Given the description of an element on the screen output the (x, y) to click on. 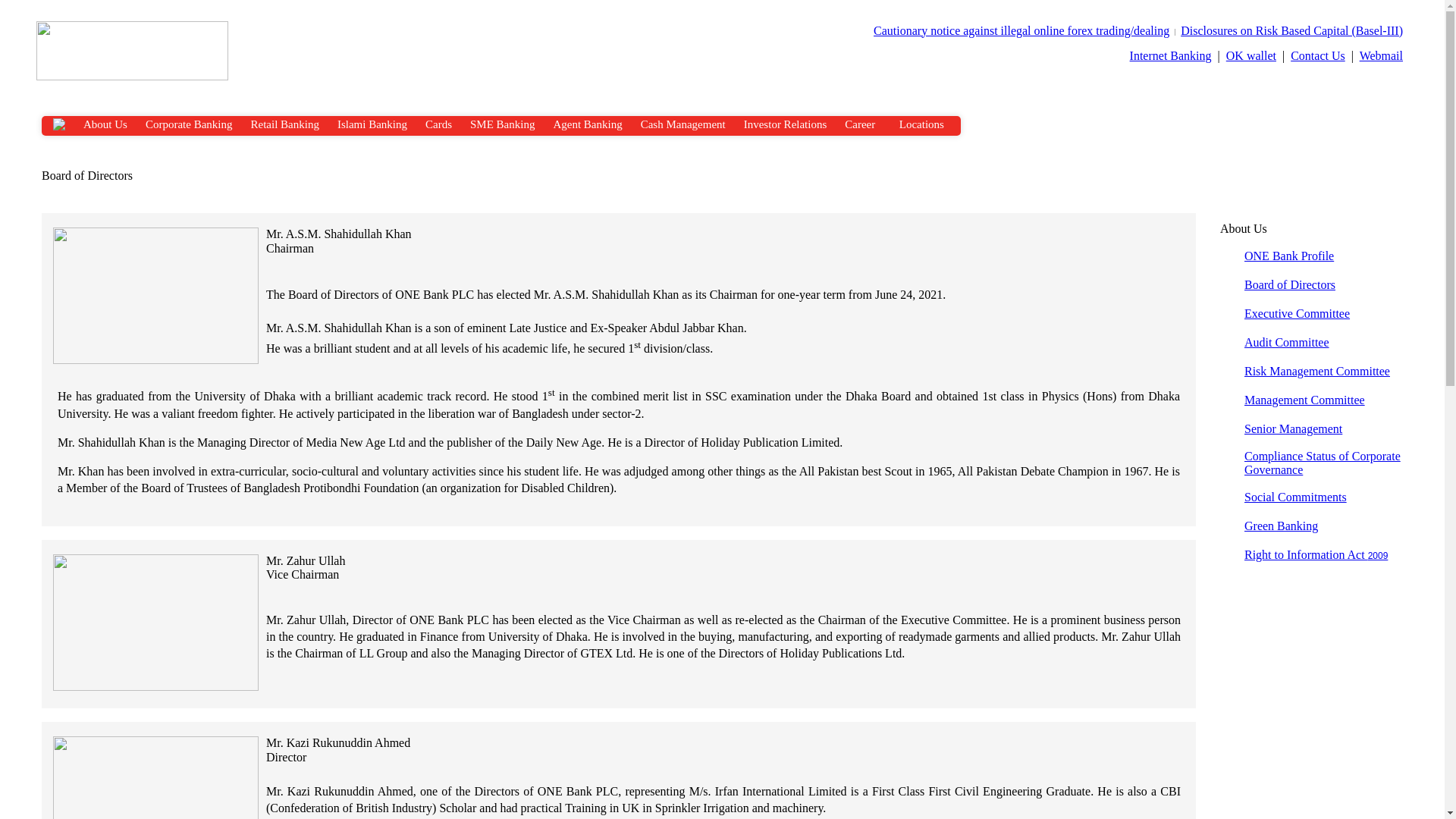
Risk Management Committee Element type: text (1317, 370)
Board of Directors Element type: text (1289, 284)
Webmail Element type: text (1380, 55)
Corporate Banking Element type: text (188, 124)
Cash Management Element type: text (682, 124)
Audit Committee Element type: text (1286, 341)
Management Committee Element type: text (1304, 399)
Disclosures on Risk Based Capital (Basel-III) Element type: text (1291, 30)
About Us Element type: text (105, 124)
Senior Management Element type: text (1293, 428)
ONE Bank Profile Element type: text (1288, 255)
Contact Us Element type: text (1317, 55)
Investor Relations Element type: text (785, 124)
  Locations   Element type: text (921, 124)
Compliance Status of Corporate Governance Element type: text (1322, 462)
Career Element type: text (859, 124)
Right to Information Act 2009 Element type: text (1315, 554)
Retail Banking Element type: text (284, 124)
OK wallet Element type: text (1251, 55)
Agent Banking Element type: text (586, 124)
Islami Banking Element type: text (372, 124)
Executive Committee Element type: text (1296, 313)
Green Banking Element type: text (1280, 525)
Internet Banking Element type: text (1170, 55)
Social Commitments Element type: text (1295, 496)
Cards Element type: text (438, 124)
SME Banking Element type: text (502, 124)
